Given the description of an element on the screen output the (x, y) to click on. 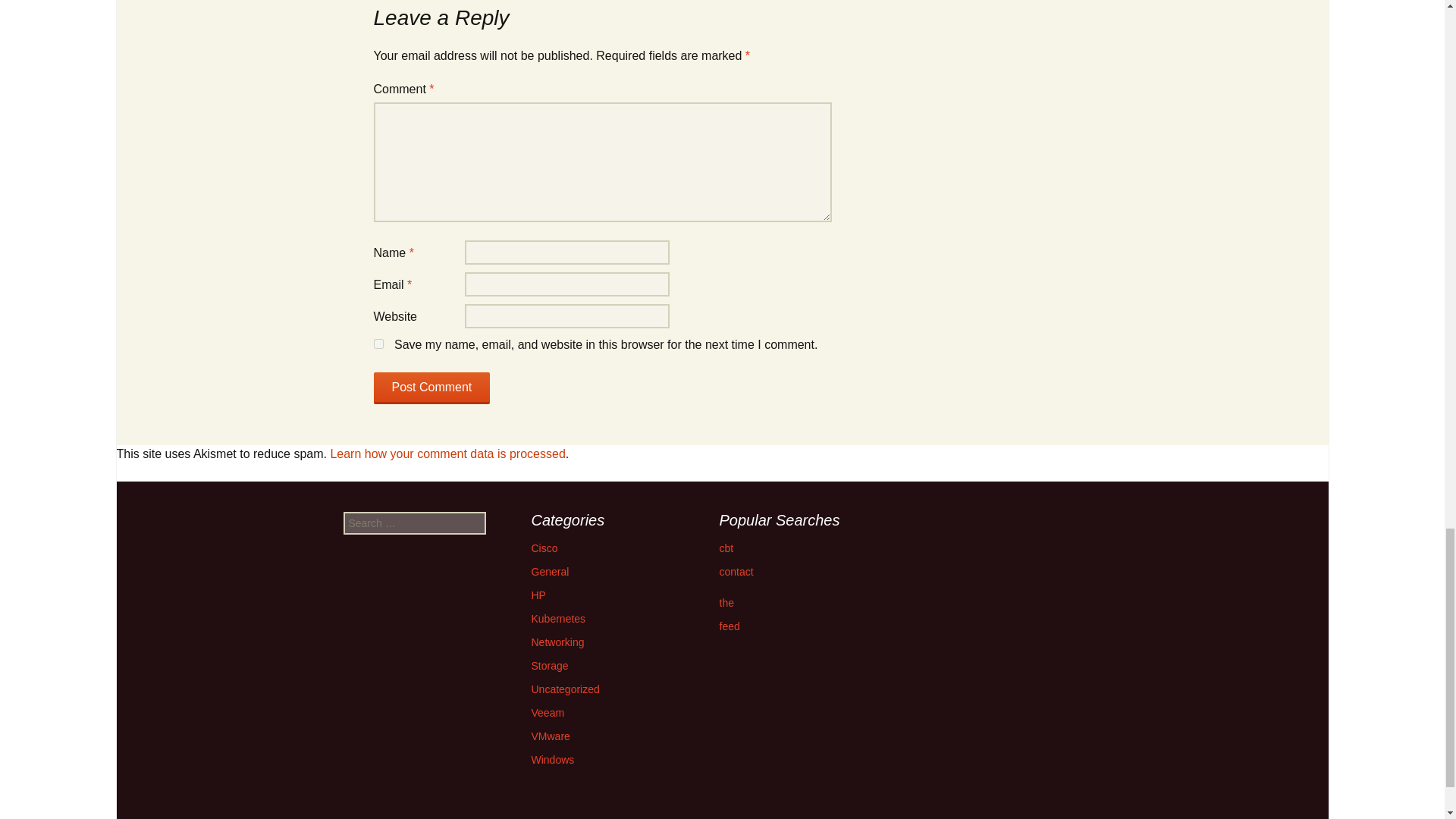
Post Comment (430, 388)
yes (377, 343)
Post Comment (430, 388)
Learn how your comment data is processed (447, 453)
